Given the description of an element on the screen output the (x, y) to click on. 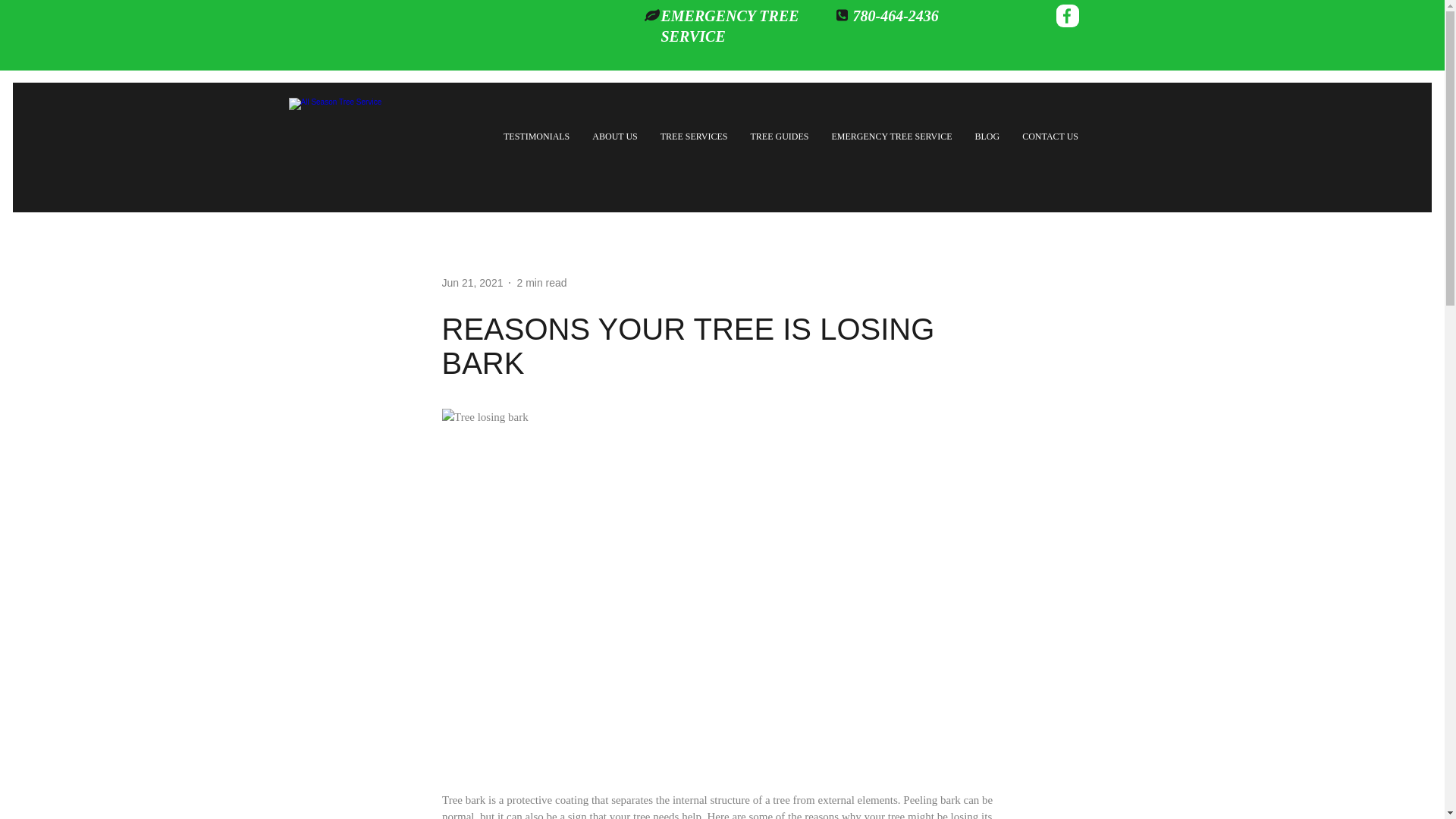
BLOG (987, 136)
780-464-2436 (894, 18)
Jun 21, 2021 (471, 282)
2 min read (541, 282)
TESTIMONIALS (536, 136)
TREE SERVICES (694, 136)
CONTACT US (1049, 136)
EMERGENCY TREE SERVICE (730, 28)
TREE GUIDES (778, 136)
ABOUT US (613, 136)
